Given the description of an element on the screen output the (x, y) to click on. 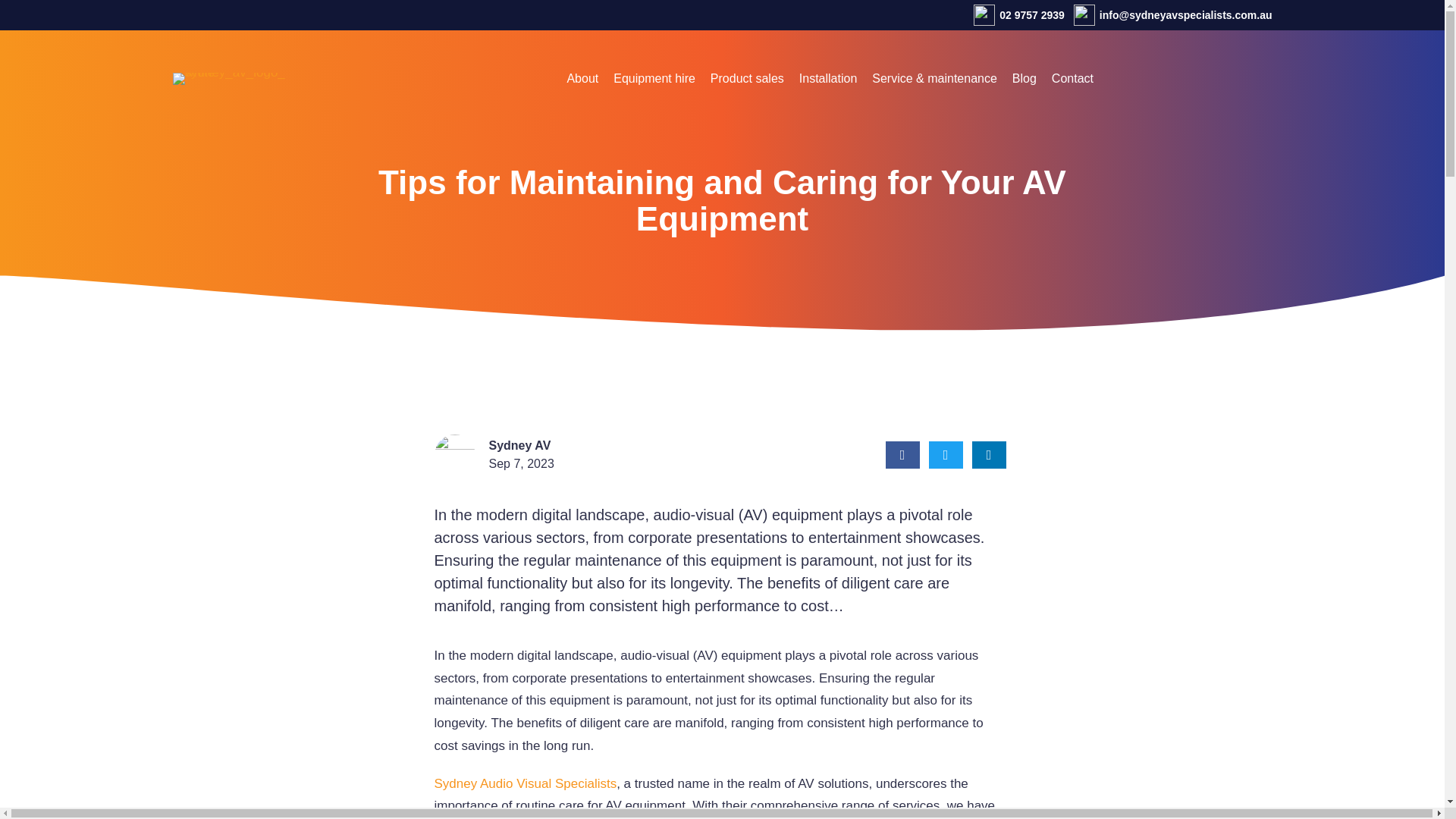
Installation (828, 78)
02 9757 2939 (1019, 14)
Equipment hire (653, 78)
Product sales (747, 78)
About (582, 78)
